Given the description of an element on the screen output the (x, y) to click on. 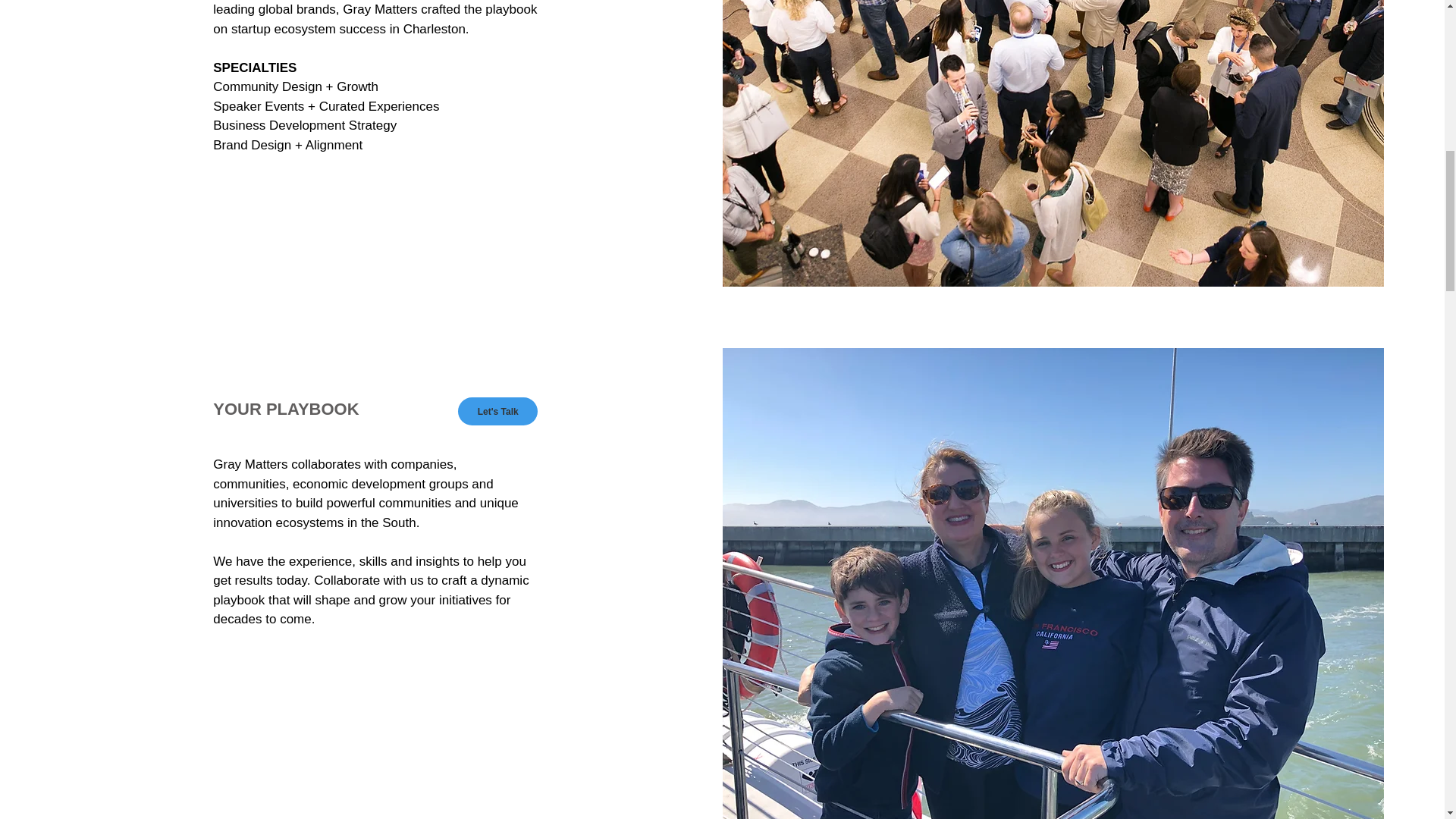
Let's Talk (497, 411)
